Given the description of an element on the screen output the (x, y) to click on. 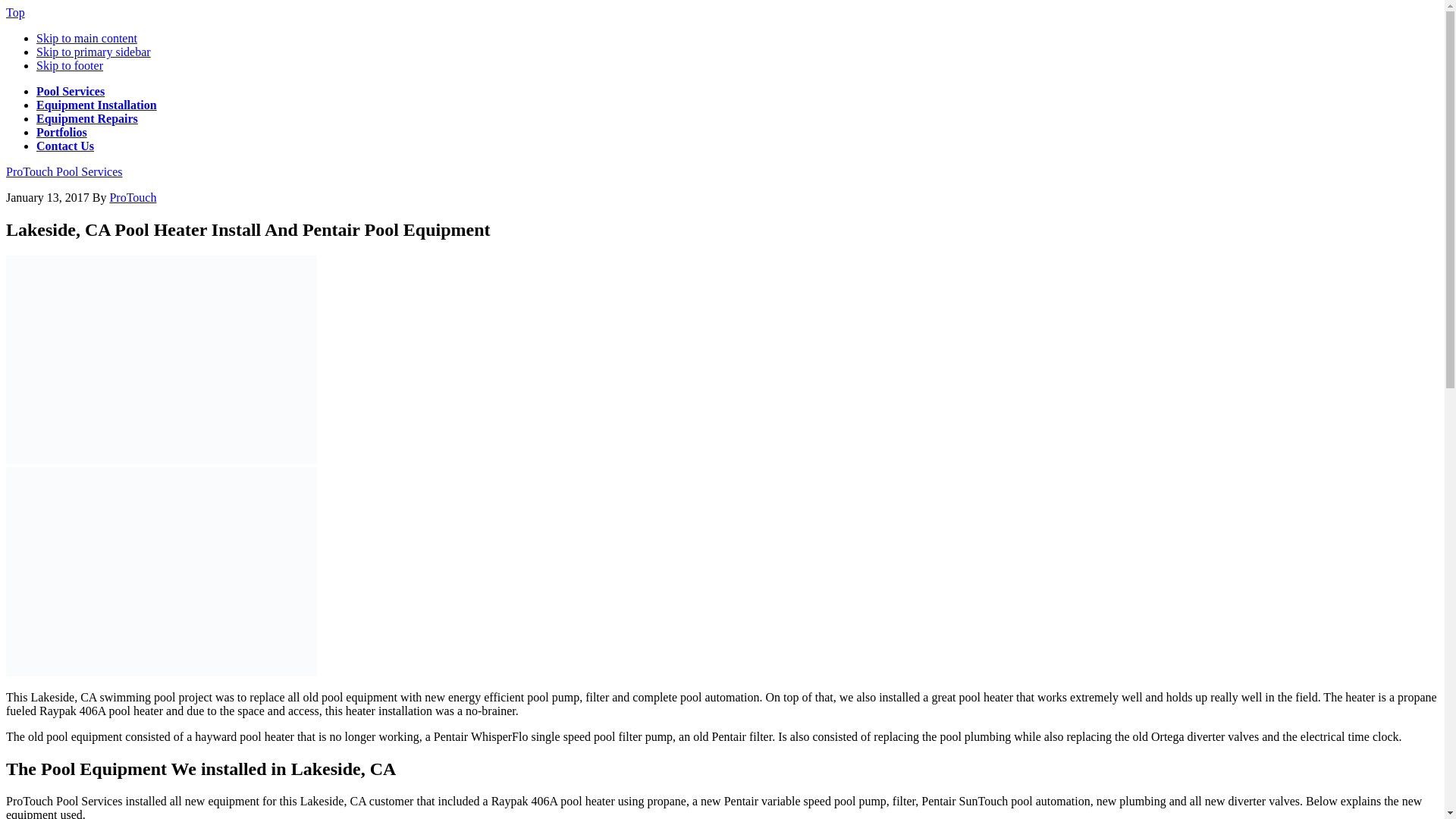
Skip to footer (69, 65)
Equipment Installation (96, 104)
Equipment Repairs (87, 118)
Contact Us (65, 145)
Portfolios (61, 132)
Top (14, 11)
Back To Top (14, 11)
Skip to primary sidebar (93, 51)
Pool Services (70, 91)
ProTouch Pool Services (63, 171)
ProTouch (132, 196)
Skip to main content (86, 38)
